Given the description of an element on the screen output the (x, y) to click on. 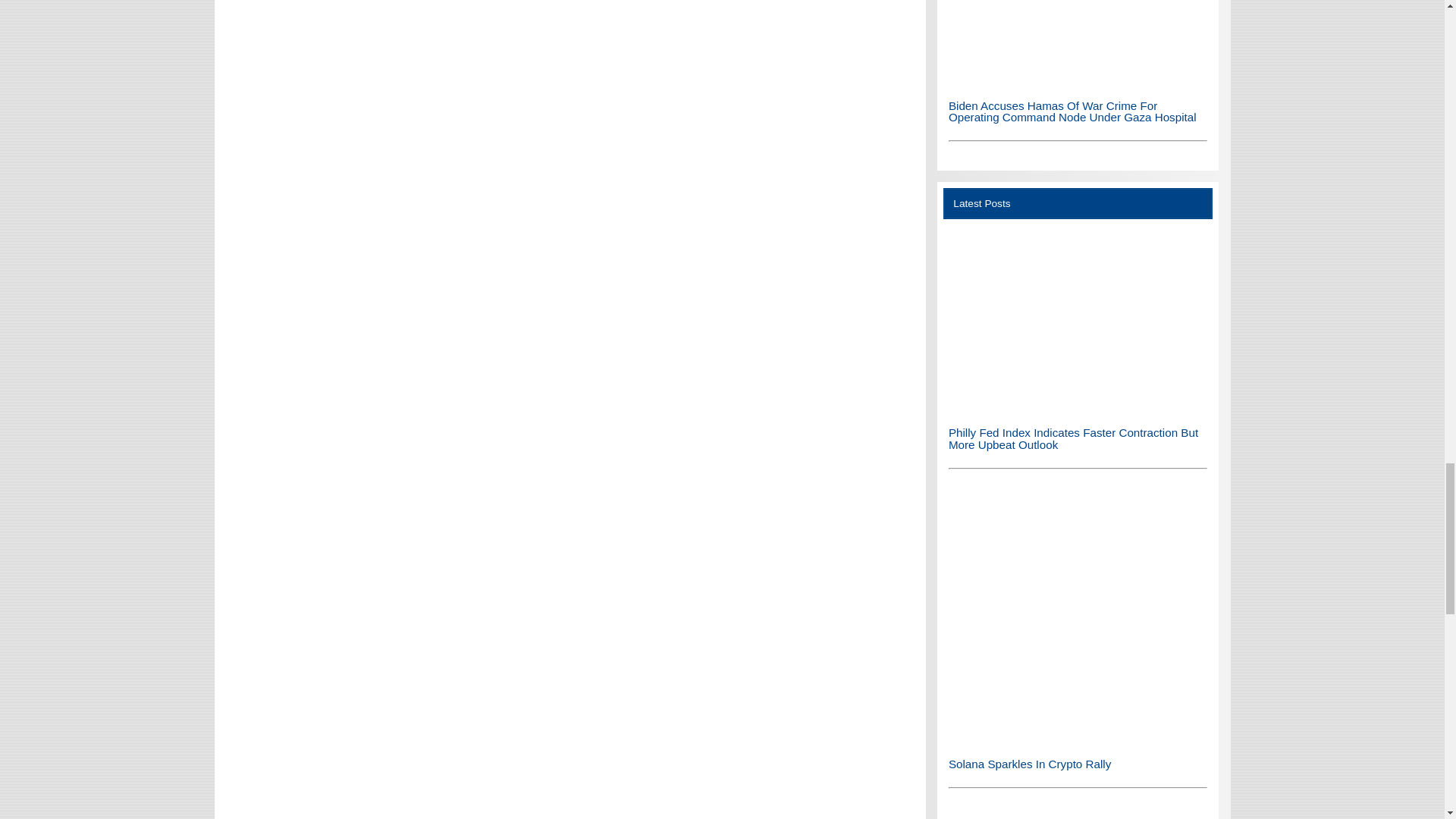
Solana Sparkles In Crypto Rally (1078, 740)
Solana Sparkles In Crypto Rally (1078, 615)
